Given the description of an element on the screen output the (x, y) to click on. 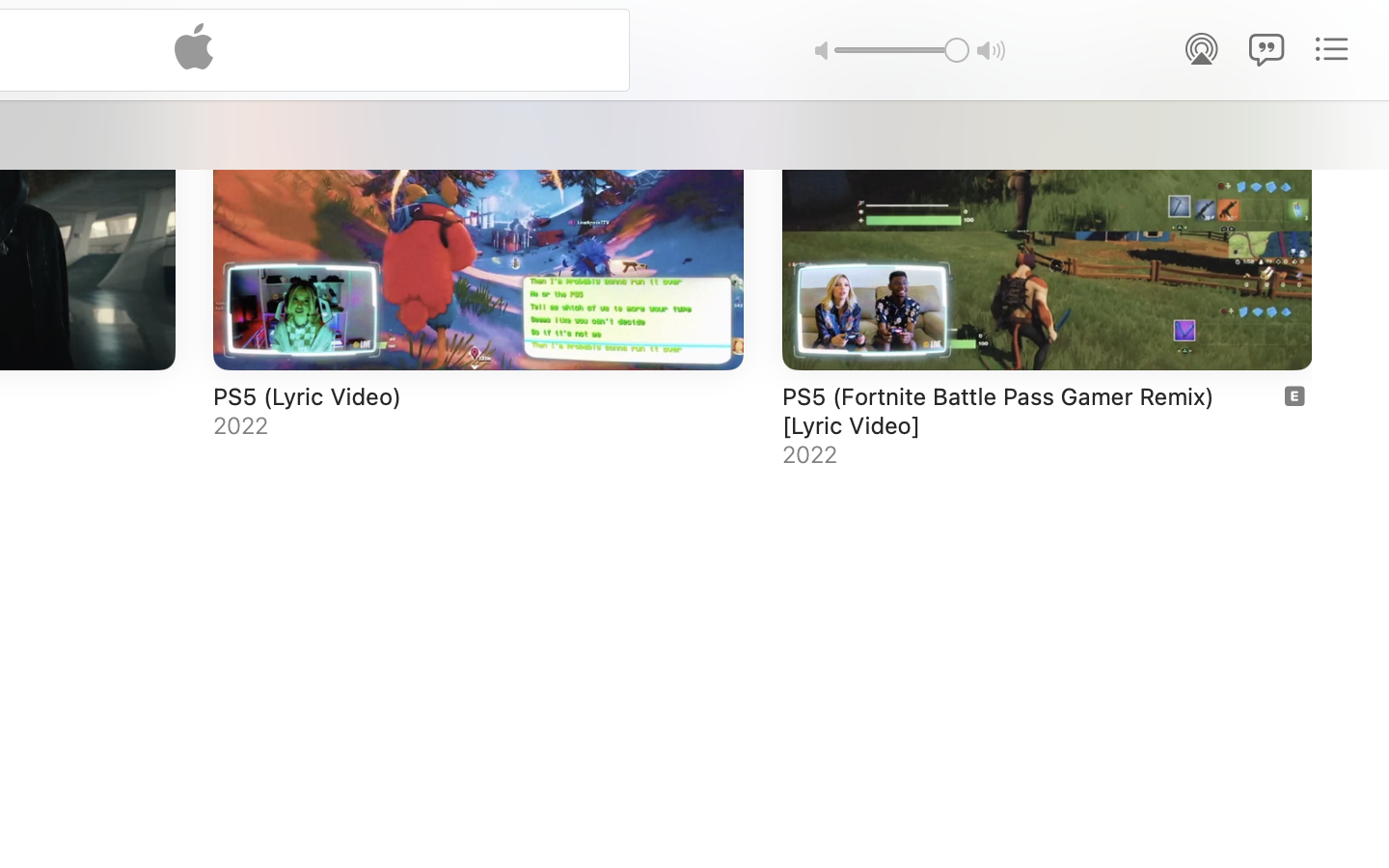
￼ Element type: AXImage (1294, 394)
1.0 Element type: AXSlider (900, 48)
